Given the description of an element on the screen output the (x, y) to click on. 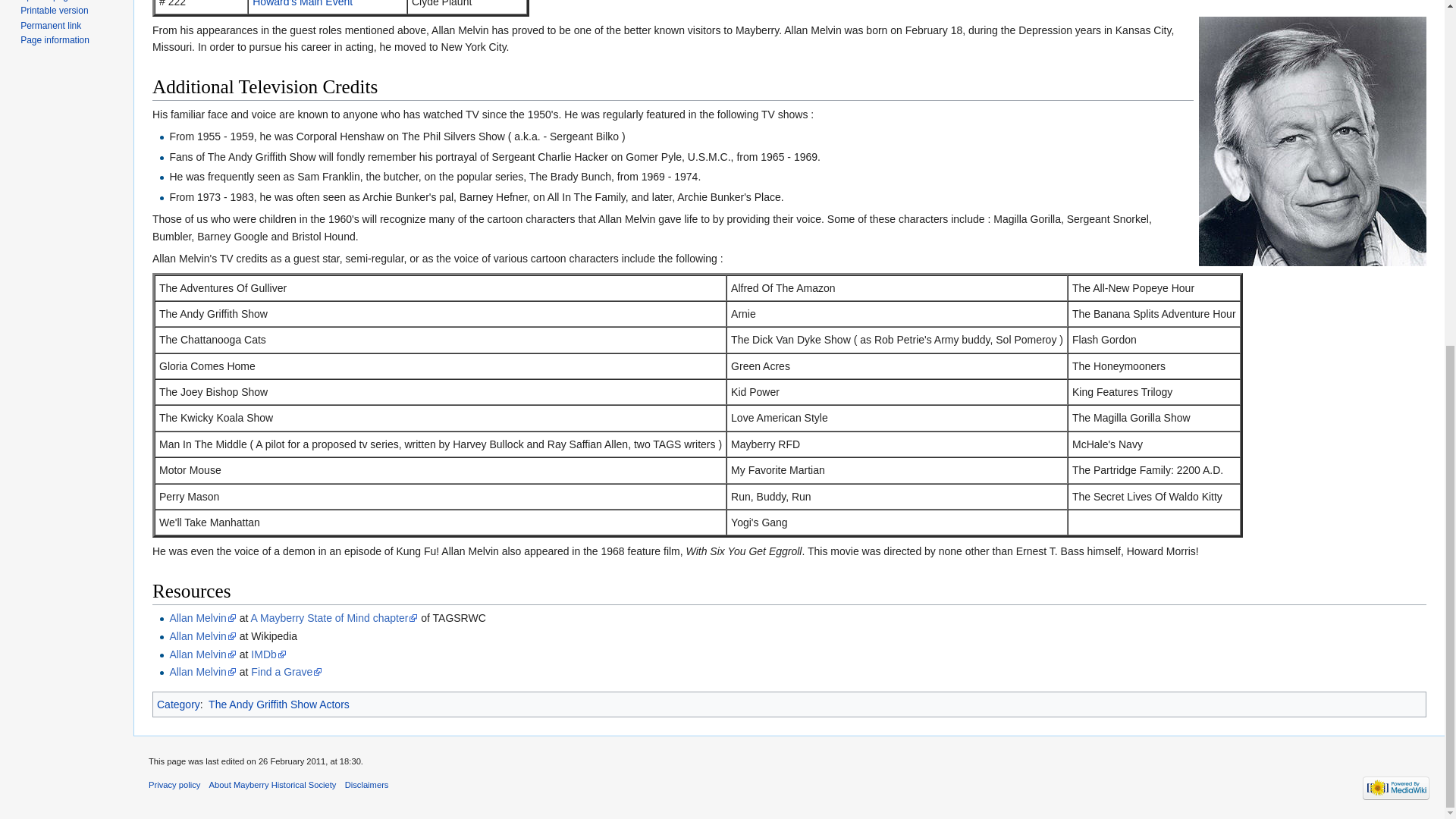
Howard's Main Event (301, 3)
Category (178, 704)
Allan Melvin (201, 617)
Allan Melvin (201, 654)
Special:Categories (178, 704)
A Mayberry State of Mind chapter (334, 617)
Allan Melvin (201, 671)
Category:The Andy Griffith Show Actors (278, 704)
Find a Grave (285, 671)
Allan Melvin (201, 635)
